Given the description of an element on the screen output the (x, y) to click on. 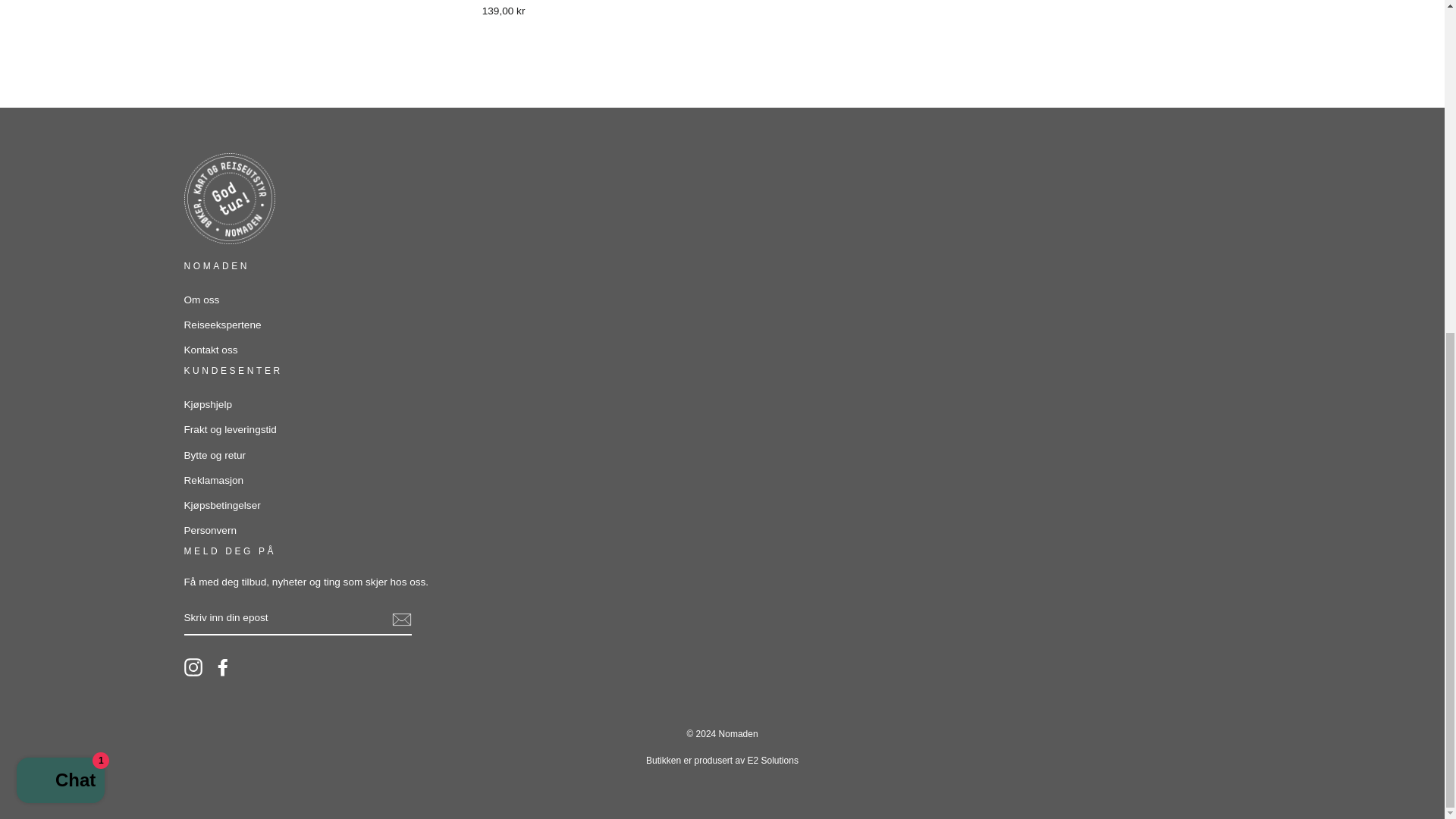
Shopify-nettbutikkchat (60, 226)
